Given the description of an element on the screen output the (x, y) to click on. 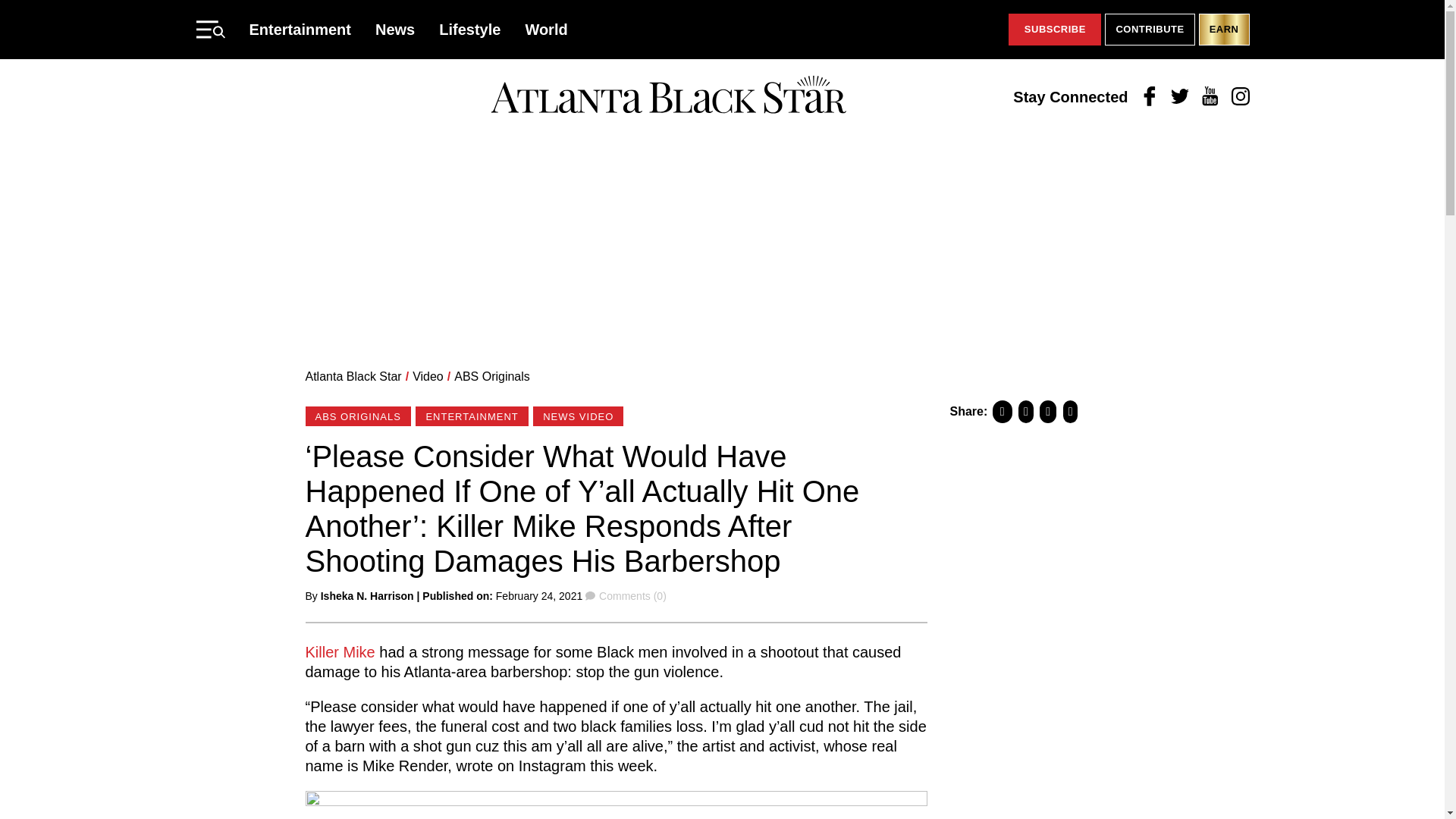
World (545, 29)
CONTRIBUTE (1149, 29)
EARN (1223, 29)
Go to the ABS Originals Category archives. (491, 376)
Atlanta Black Star (667, 96)
Go to the Video Category archives. (428, 376)
Go to Atlanta Black Star. (352, 376)
Lifestyle (469, 29)
Video (428, 376)
SUBSCRIBE (1054, 29)
Entertainment (299, 29)
Atlanta Black Star (352, 376)
News (394, 29)
